Given the description of an element on the screen output the (x, y) to click on. 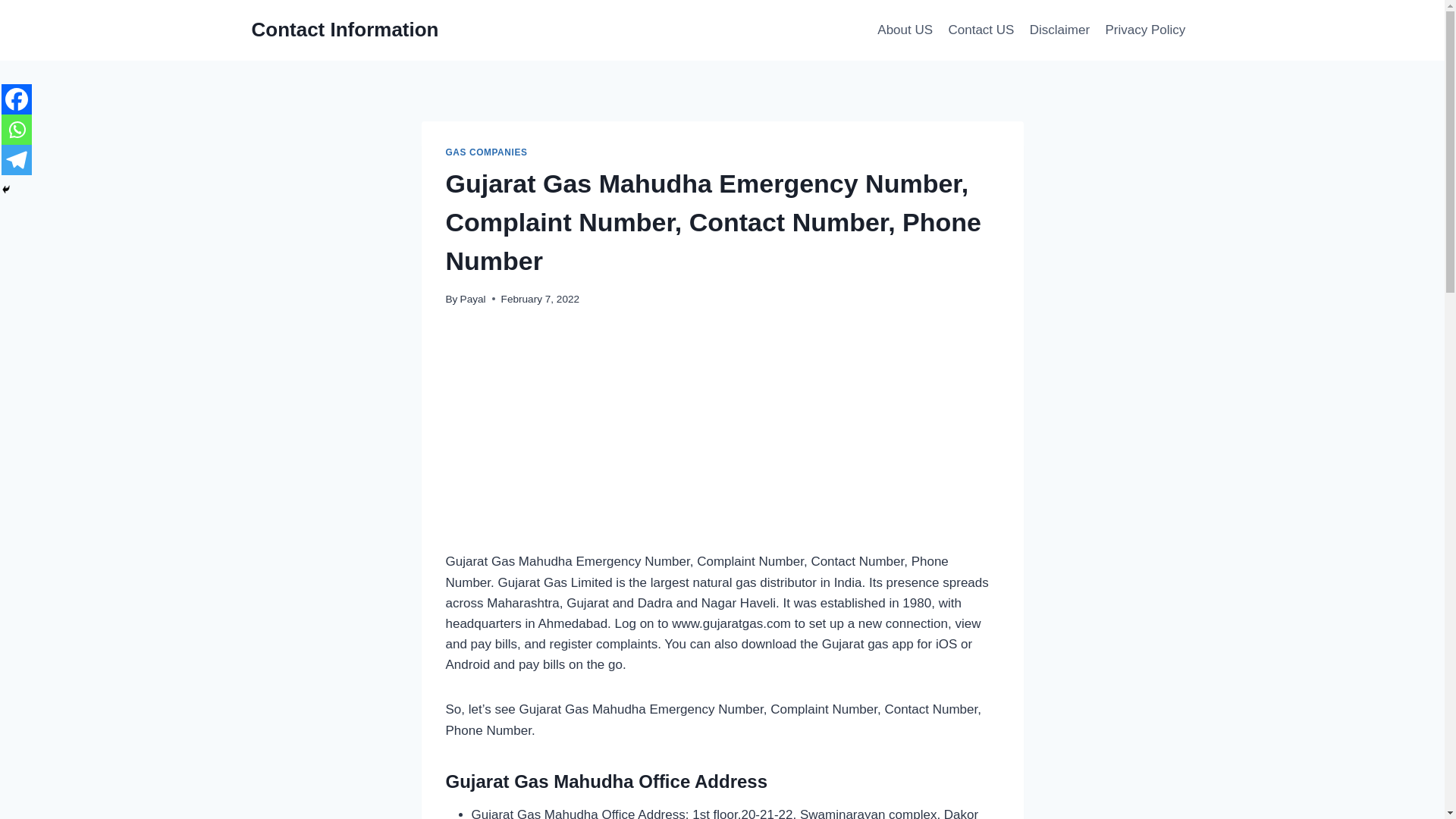
Advertisement (721, 437)
Facebook (16, 99)
Disclaimer (1059, 30)
Hide (5, 189)
Payal (473, 298)
About US (904, 30)
Whatsapp (16, 129)
Contact US (981, 30)
Telegram (16, 159)
Privacy Policy (1144, 30)
Contact Information (345, 29)
GAS COMPANIES (486, 152)
